Given the description of an element on the screen output the (x, y) to click on. 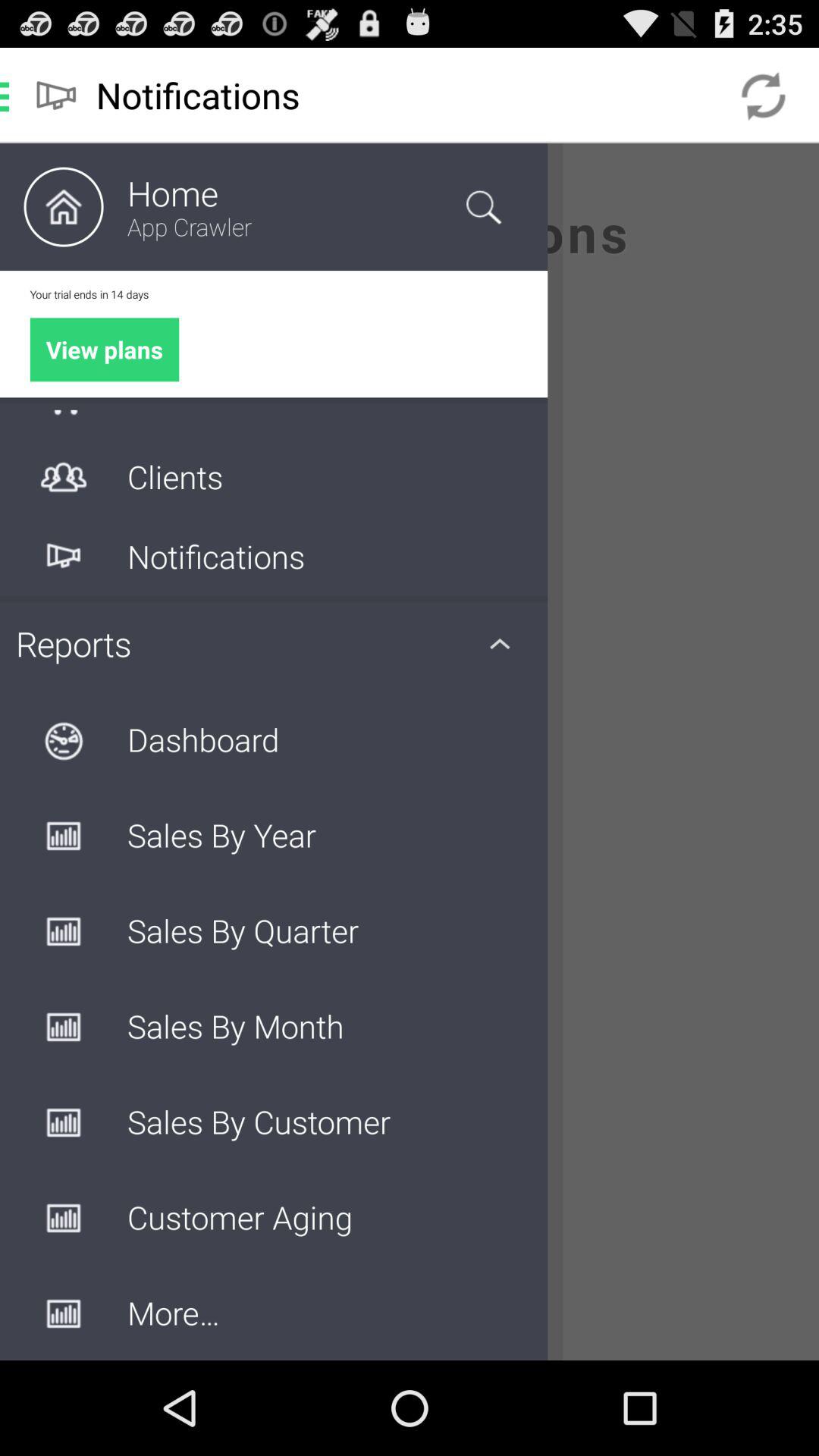
click on search icon (483, 206)
click on the green color button (104, 349)
select the icon right to the reports (499, 643)
